Given the description of an element on the screen output the (x, y) to click on. 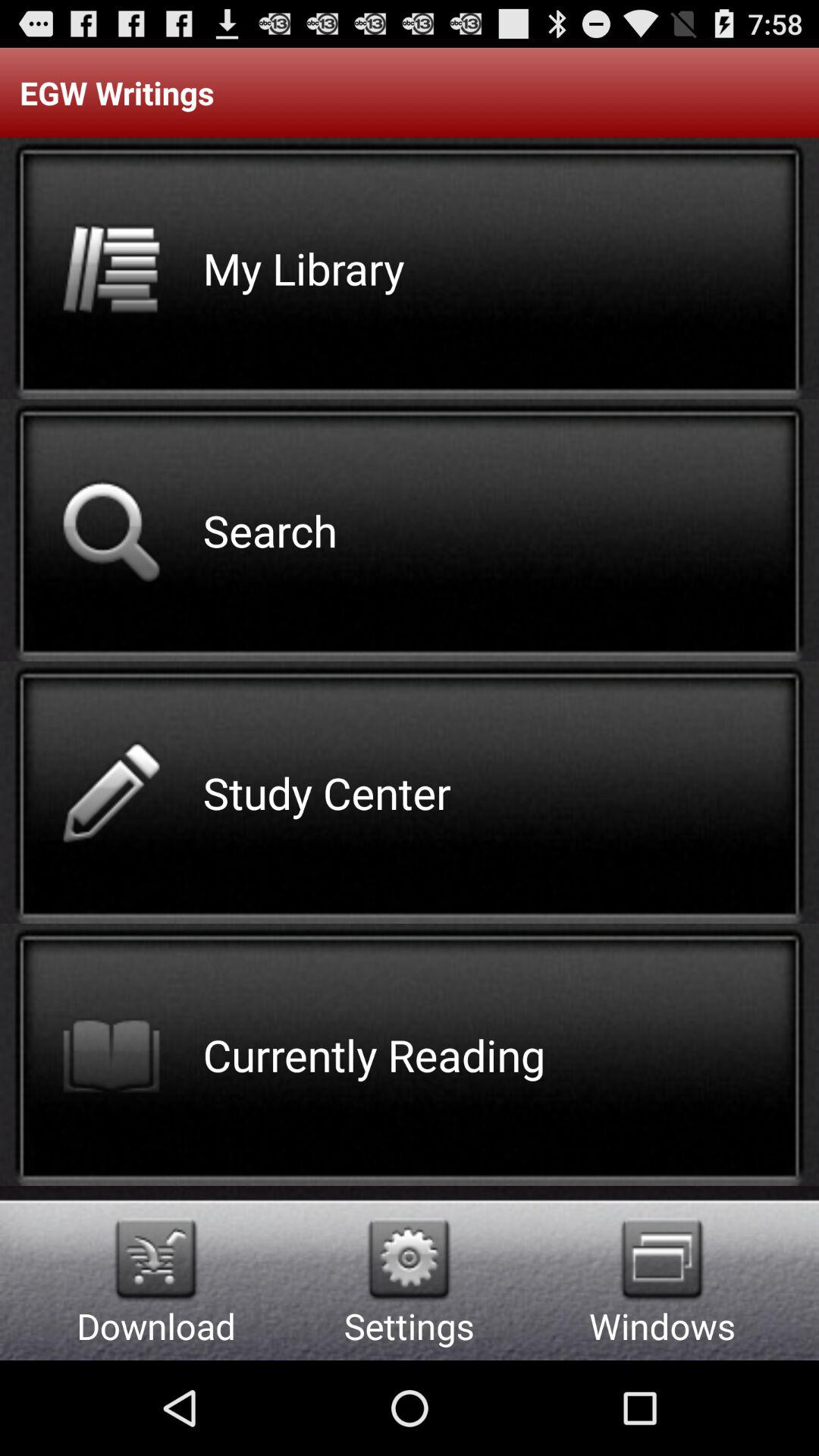
select the icon above the windows (662, 1258)
